Given the description of an element on the screen output the (x, y) to click on. 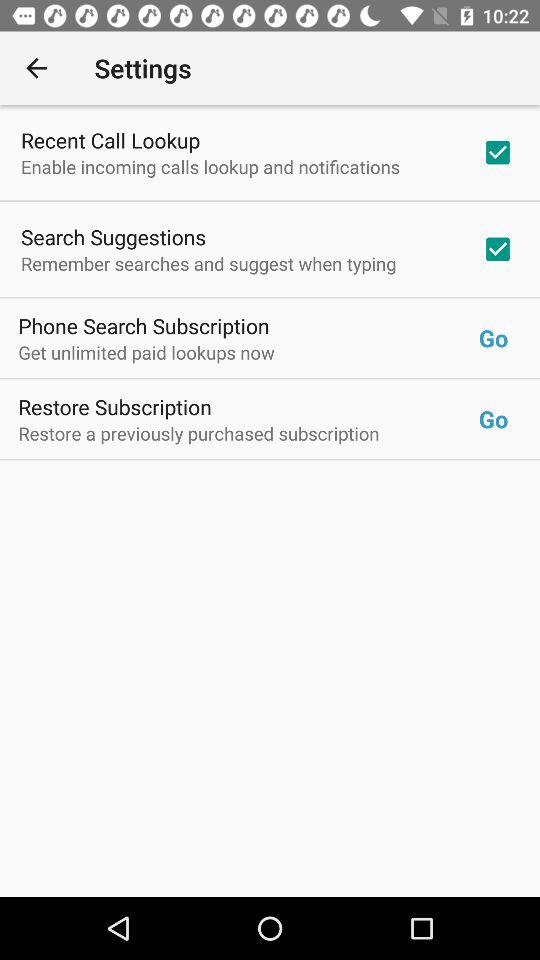
choose item to the left of go item (248, 352)
